Given the description of an element on the screen output the (x, y) to click on. 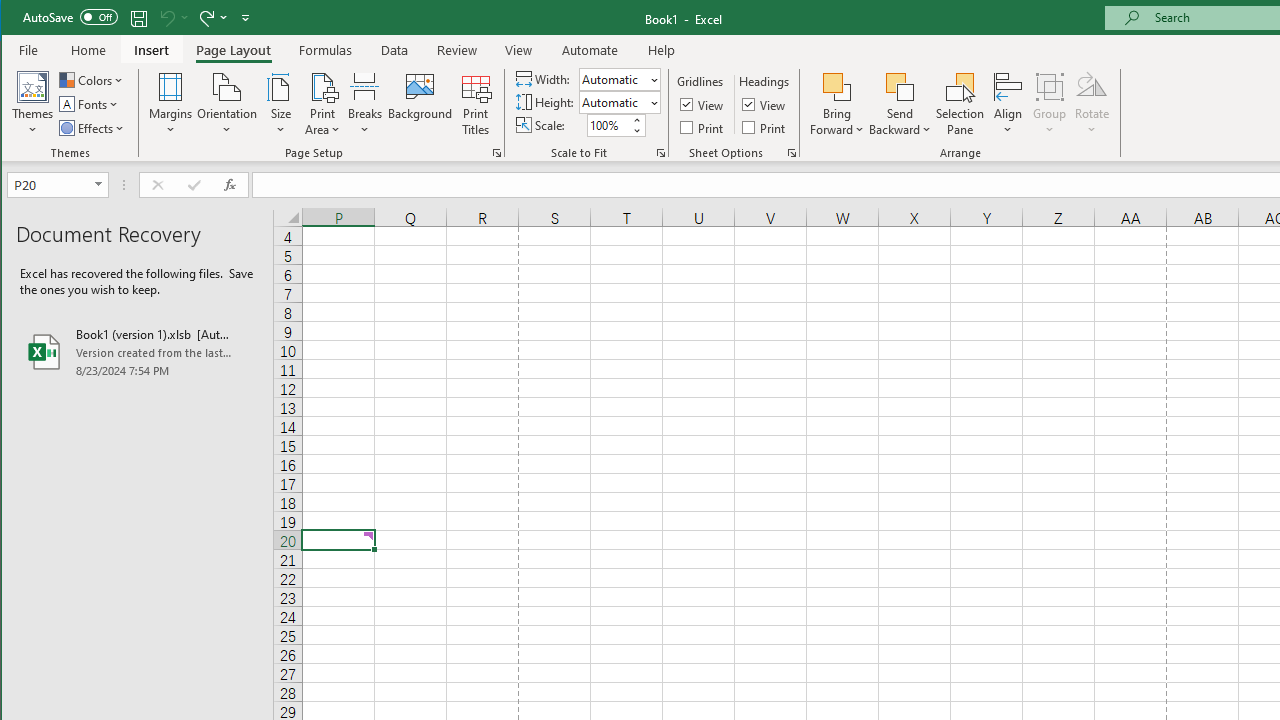
Size (280, 104)
Print Titles (475, 104)
Selection Pane... (960, 104)
Scale (607, 125)
Print (765, 126)
